Given the description of an element on the screen output the (x, y) to click on. 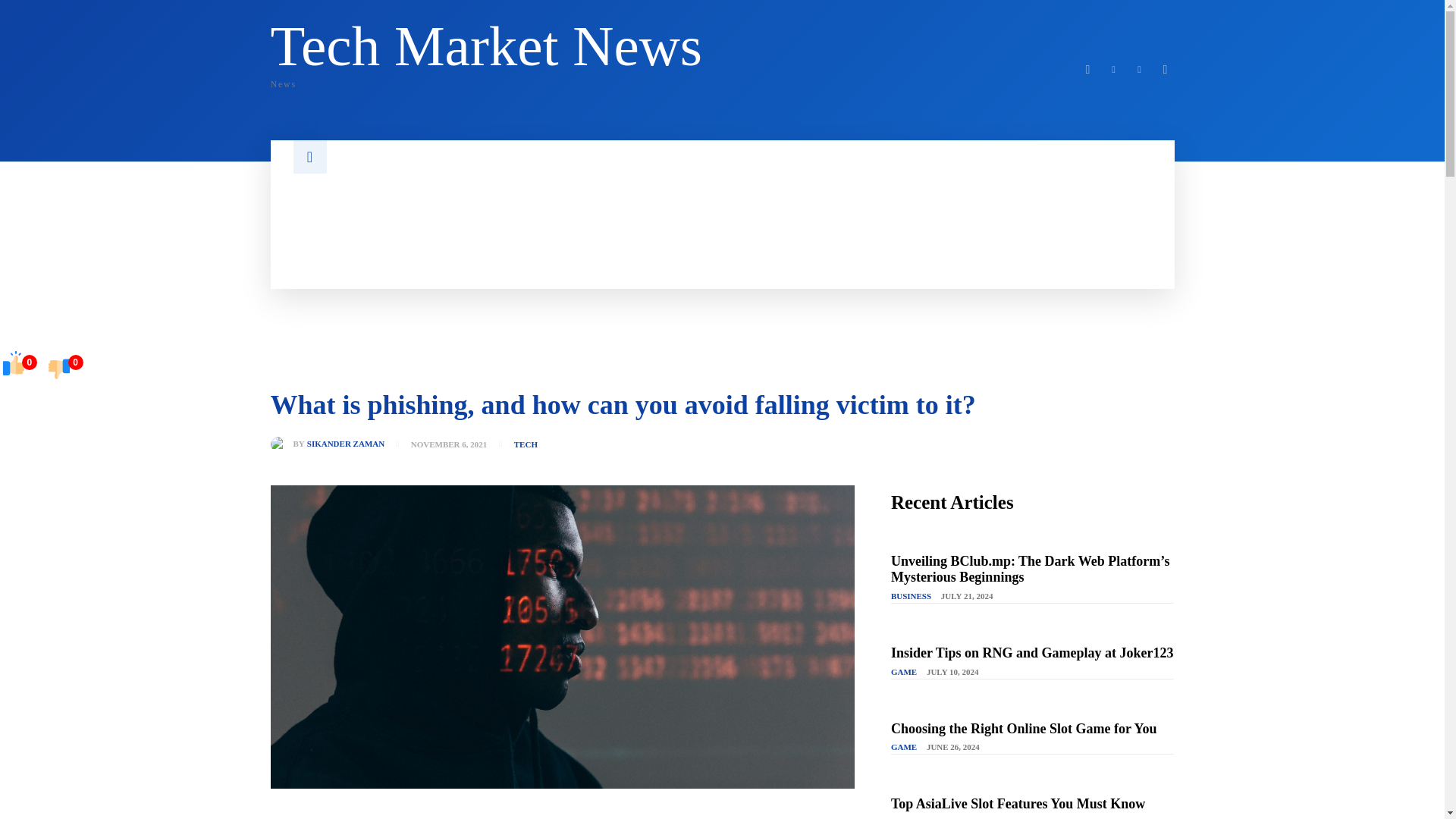
Linkedin (1112, 69)
Top AsiaLive Slot Features You Must Know (1017, 803)
Twitter (1138, 69)
Youtube (1164, 69)
Choosing the Right Online Slot Game for You (1024, 728)
Insider Tips on RNG and Gameplay at Joker123 (486, 51)
Facebook (1032, 652)
Sikander Zaman (1087, 69)
